Given the description of an element on the screen output the (x, y) to click on. 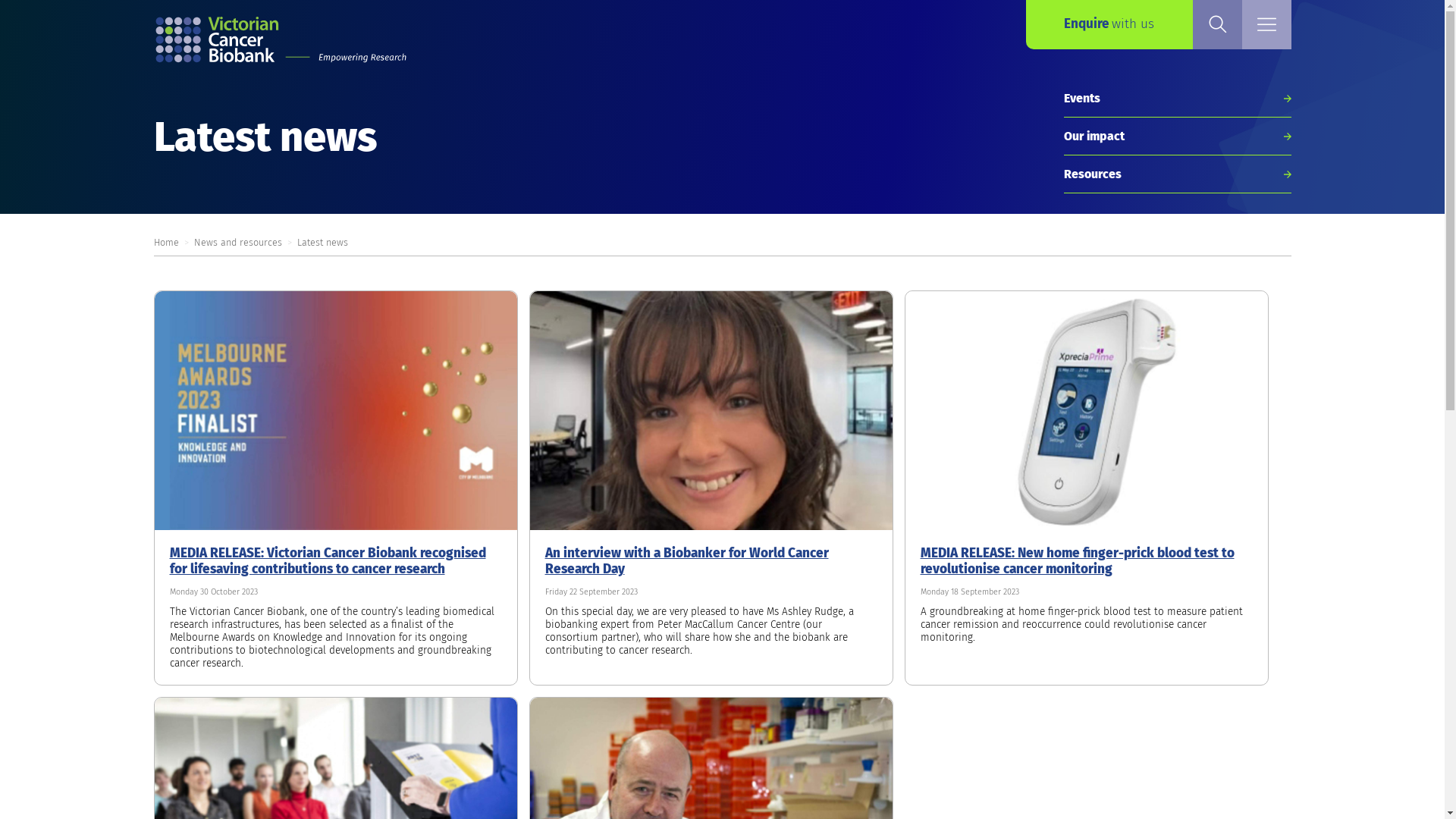
Enquire with us Element type: text (1108, 24)
News and resources Element type: text (238, 241)
Latest news Element type: text (322, 241)
An interview with a Biobanker for World Cancer Research Day Element type: text (686, 561)
Our impact Element type: text (1176, 135)
Events Element type: text (1176, 97)
Return to the home page Element type: hover (282, 41)
Resources Element type: text (1176, 173)
Home Element type: text (165, 241)
